Given the description of an element on the screen output the (x, y) to click on. 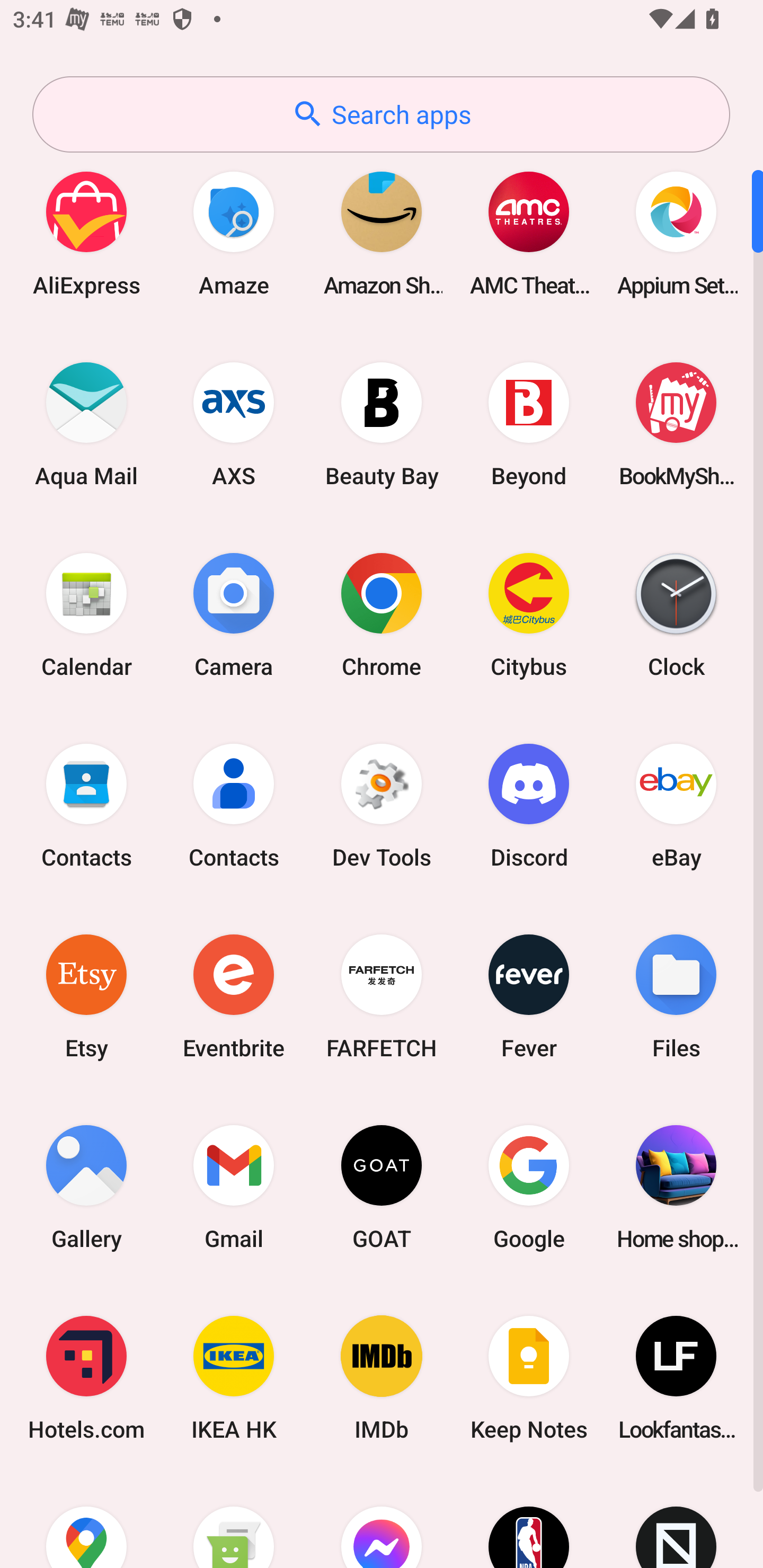
  Search apps (381, 114)
AliExpress (86, 233)
Amaze (233, 233)
Amazon Shopping (381, 233)
AMC Theatres (528, 233)
Appium Settings (676, 233)
Aqua Mail (86, 424)
AXS (233, 424)
Beauty Bay (381, 424)
Beyond (528, 424)
BookMyShow (676, 424)
Calendar (86, 614)
Camera (233, 614)
Chrome (381, 614)
Citybus (528, 614)
Clock (676, 614)
Contacts (86, 805)
Contacts (233, 805)
Dev Tools (381, 805)
Discord (528, 805)
eBay (676, 805)
Etsy (86, 996)
Eventbrite (233, 996)
FARFETCH (381, 996)
Fever (528, 996)
Files (676, 996)
Gallery (86, 1186)
Gmail (233, 1186)
GOAT (381, 1186)
Google (528, 1186)
Home shopping (676, 1186)
Hotels.com (86, 1377)
IKEA HK (233, 1377)
IMDb (381, 1377)
Keep Notes (528, 1377)
Lookfantastic (676, 1377)
